Given the description of an element on the screen output the (x, y) to click on. 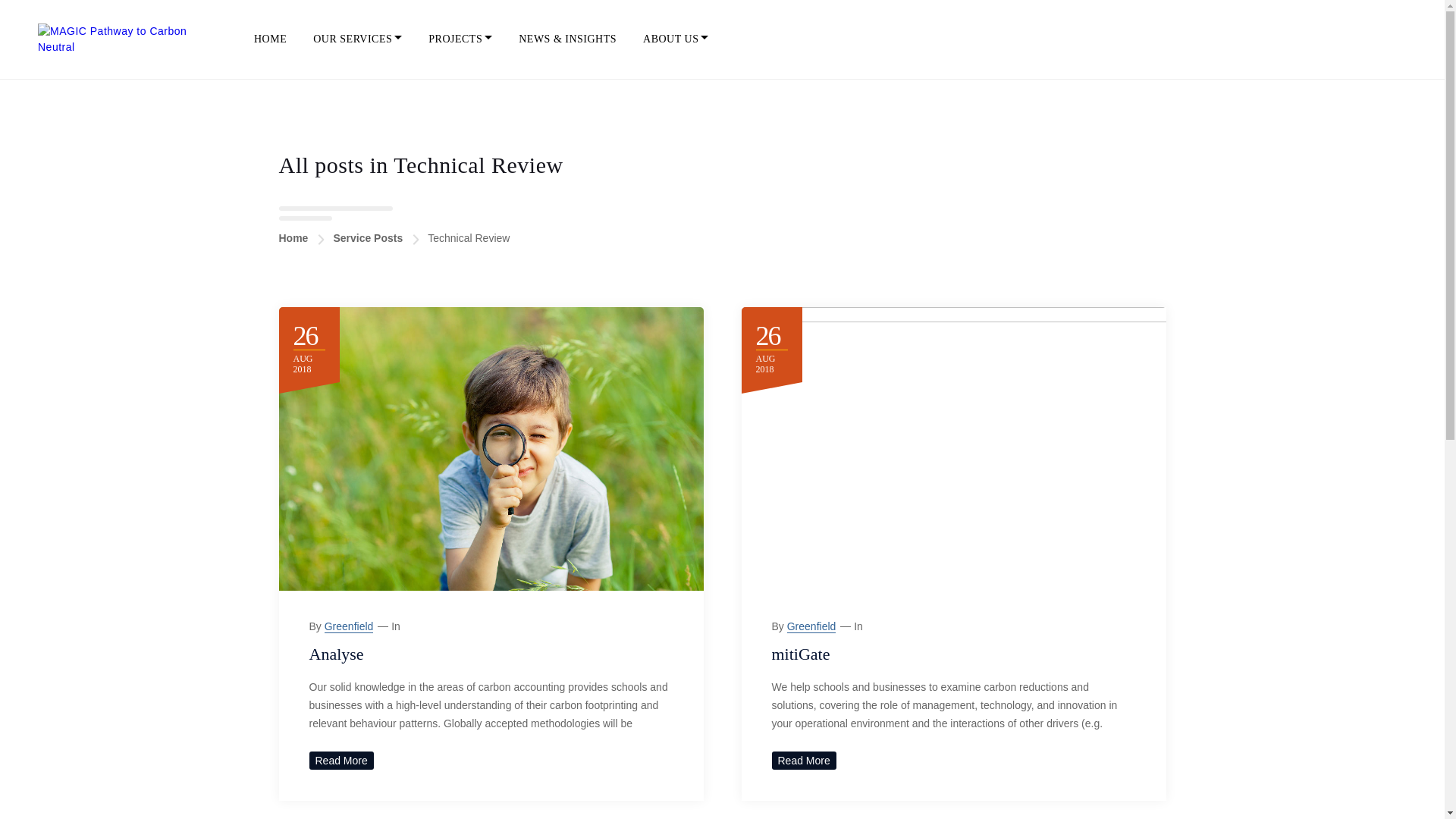
Service Posts (368, 237)
Home (293, 237)
OUR SERVICES (357, 39)
Service Posts (368, 237)
Home (293, 237)
